Given the description of an element on the screen output the (x, y) to click on. 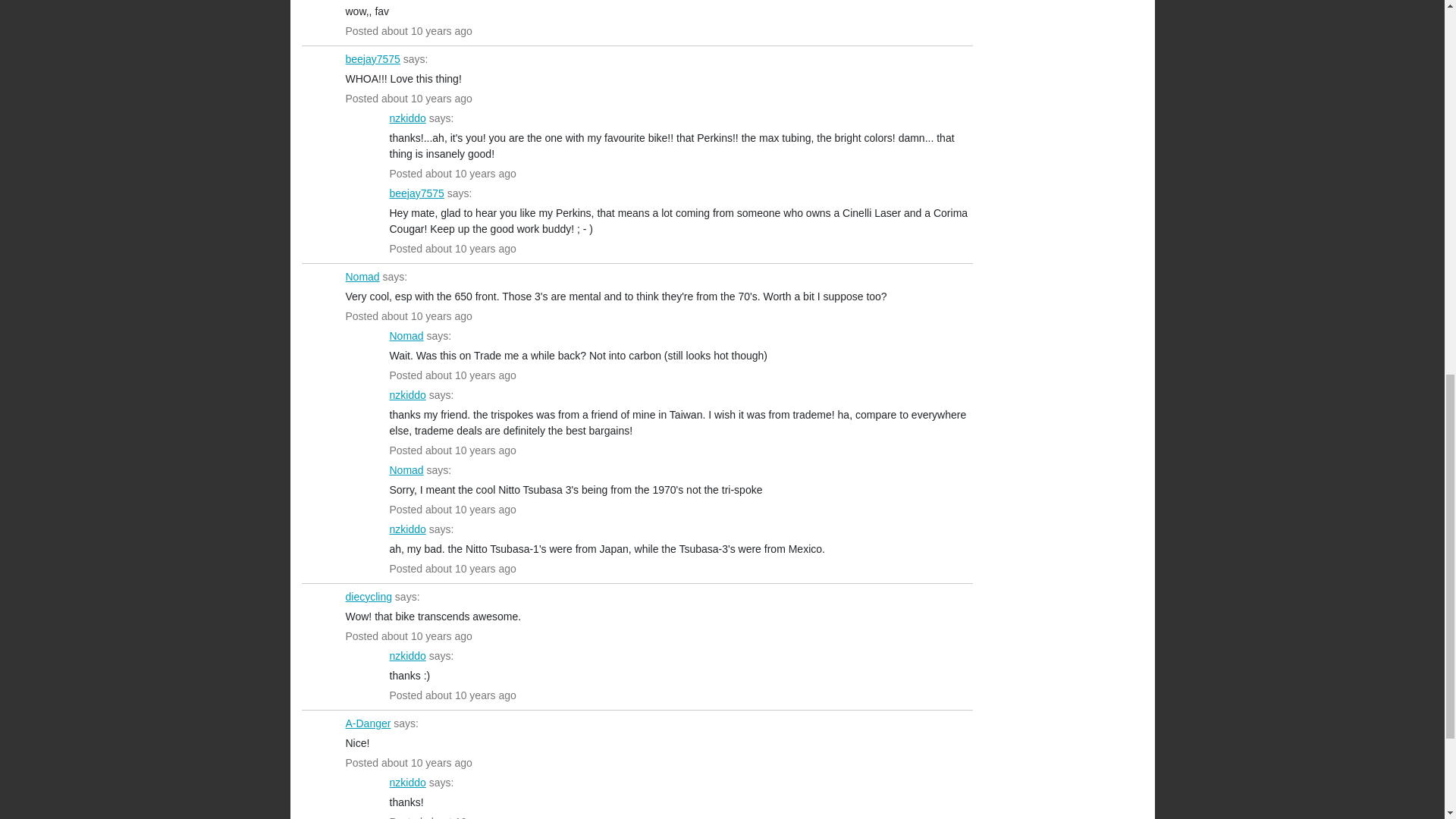
beejay7575 (319, 72)
nzkiddo (363, 131)
nzkiddo (408, 118)
dyss (319, 11)
beejay7575 (373, 59)
beejay7575 (363, 207)
beejay7575 (417, 193)
